Given the description of an element on the screen output the (x, y) to click on. 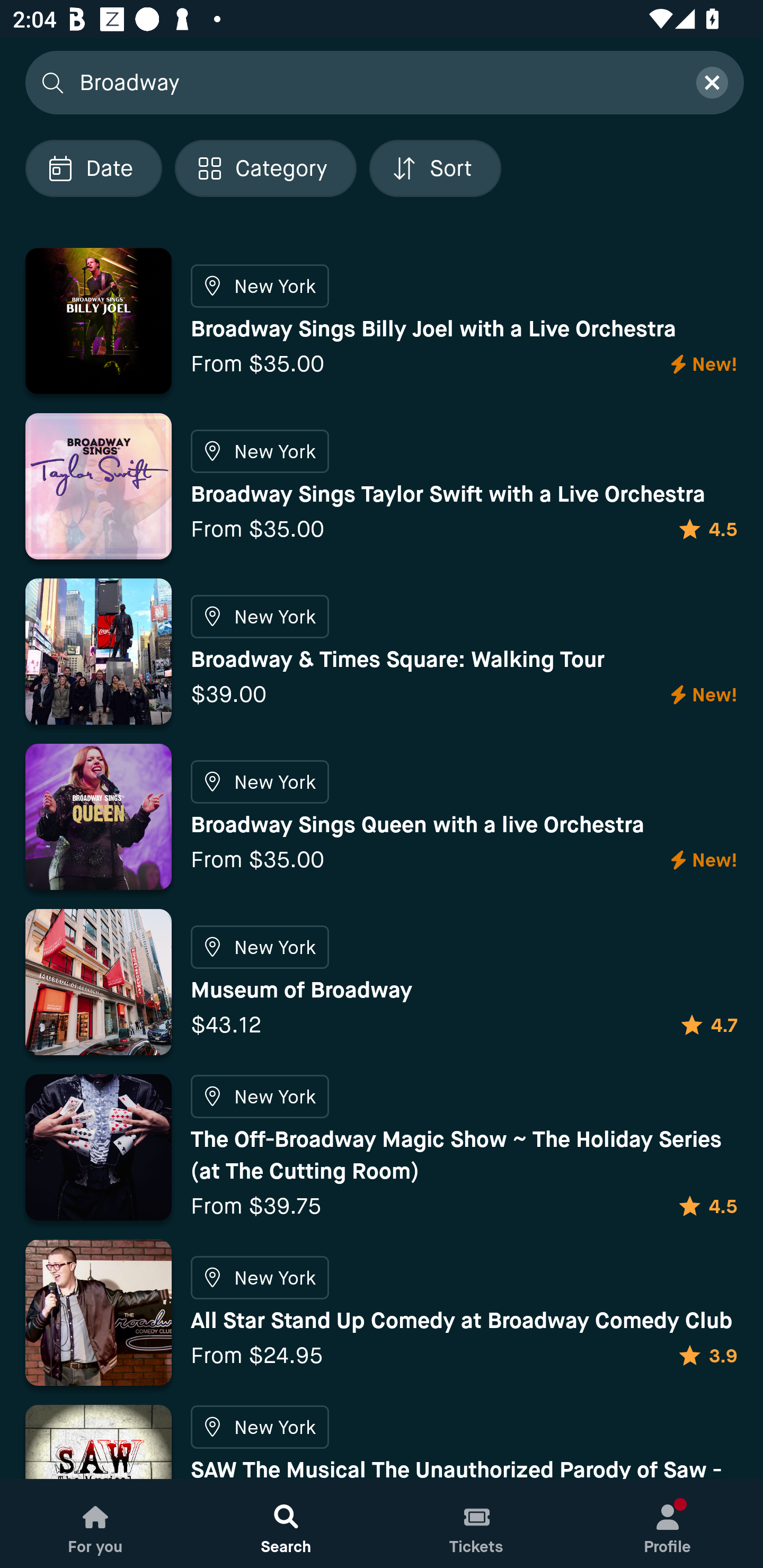
Broadway (376, 81)
Localized description Date (93, 168)
Localized description Category (265, 168)
Localized description Sort (435, 168)
For you (95, 1523)
Tickets (476, 1523)
Profile, New notification Profile (667, 1523)
